Given the description of an element on the screen output the (x, y) to click on. 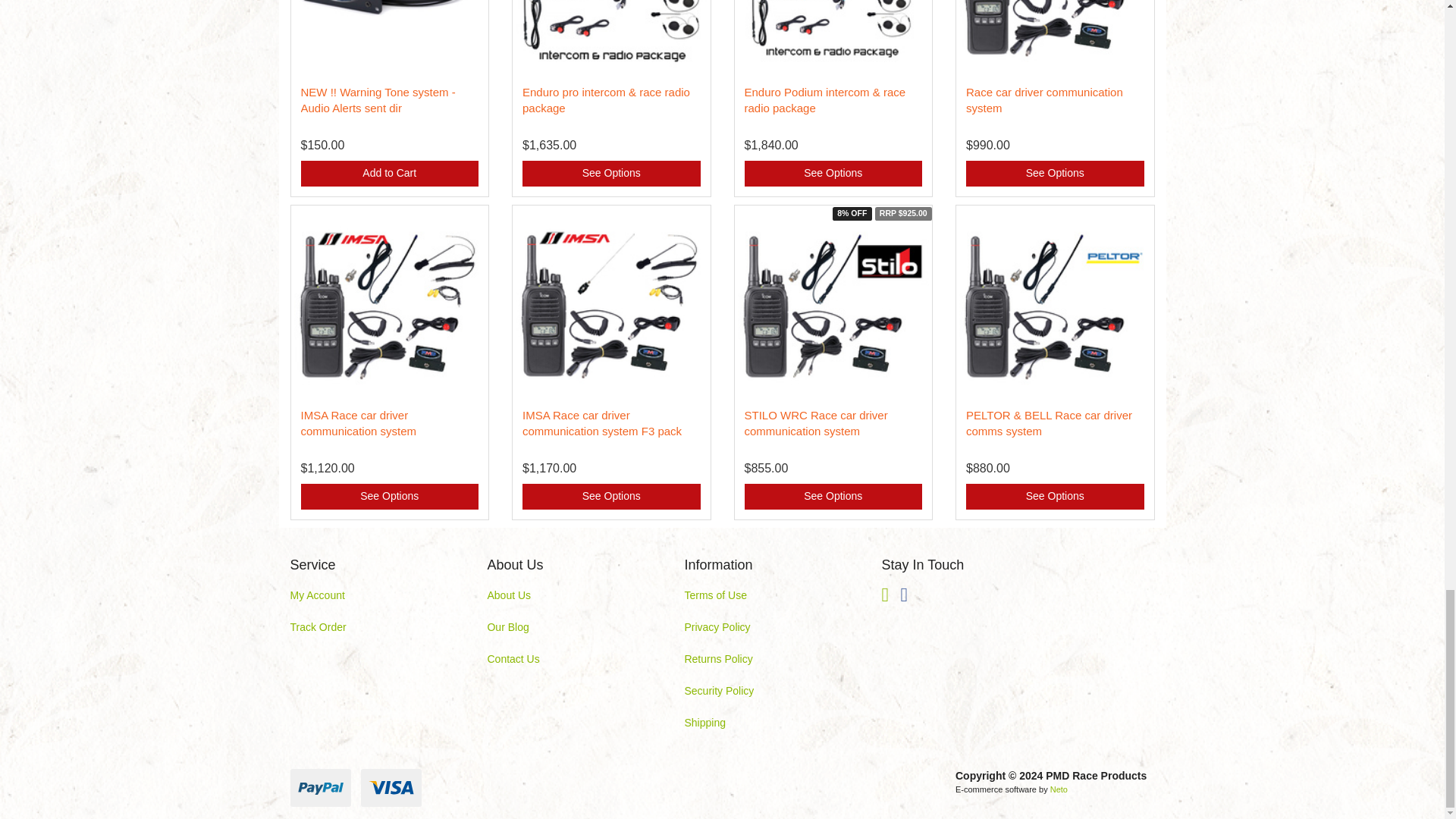
Add to Cart (389, 173)
Buying Options (833, 173)
NEW !! Warning Tone system - Audio Alerts sent dir (376, 99)
Race car driver communication system (1044, 99)
Buying Options (611, 173)
